Given the description of an element on the screen output the (x, y) to click on. 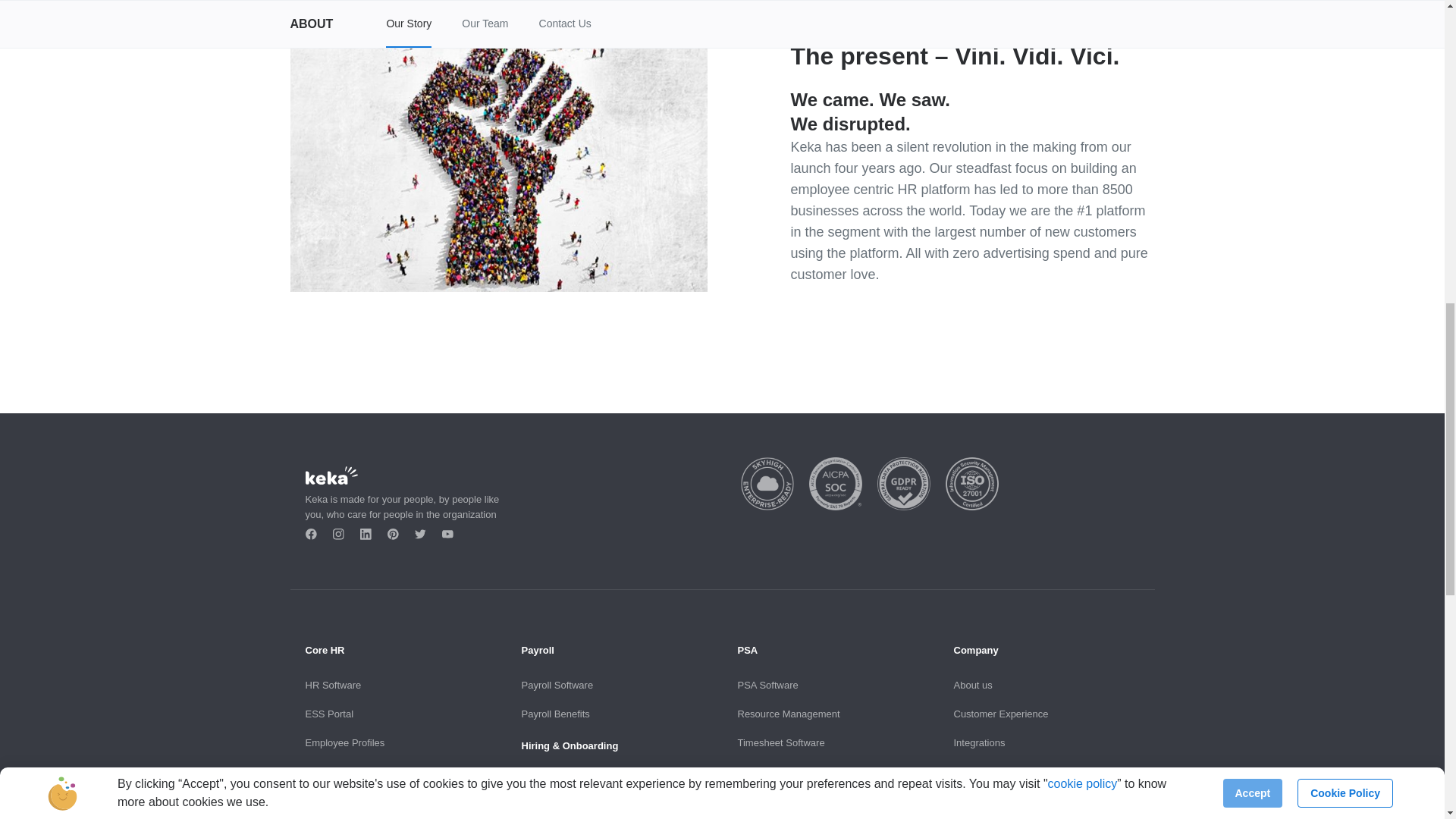
Helpdesk (325, 799)
HR Software (332, 685)
Documents (329, 771)
Payroll Software (557, 685)
Employee Profiles (344, 742)
ESS Portal (328, 713)
